Given the description of an element on the screen output the (x, y) to click on. 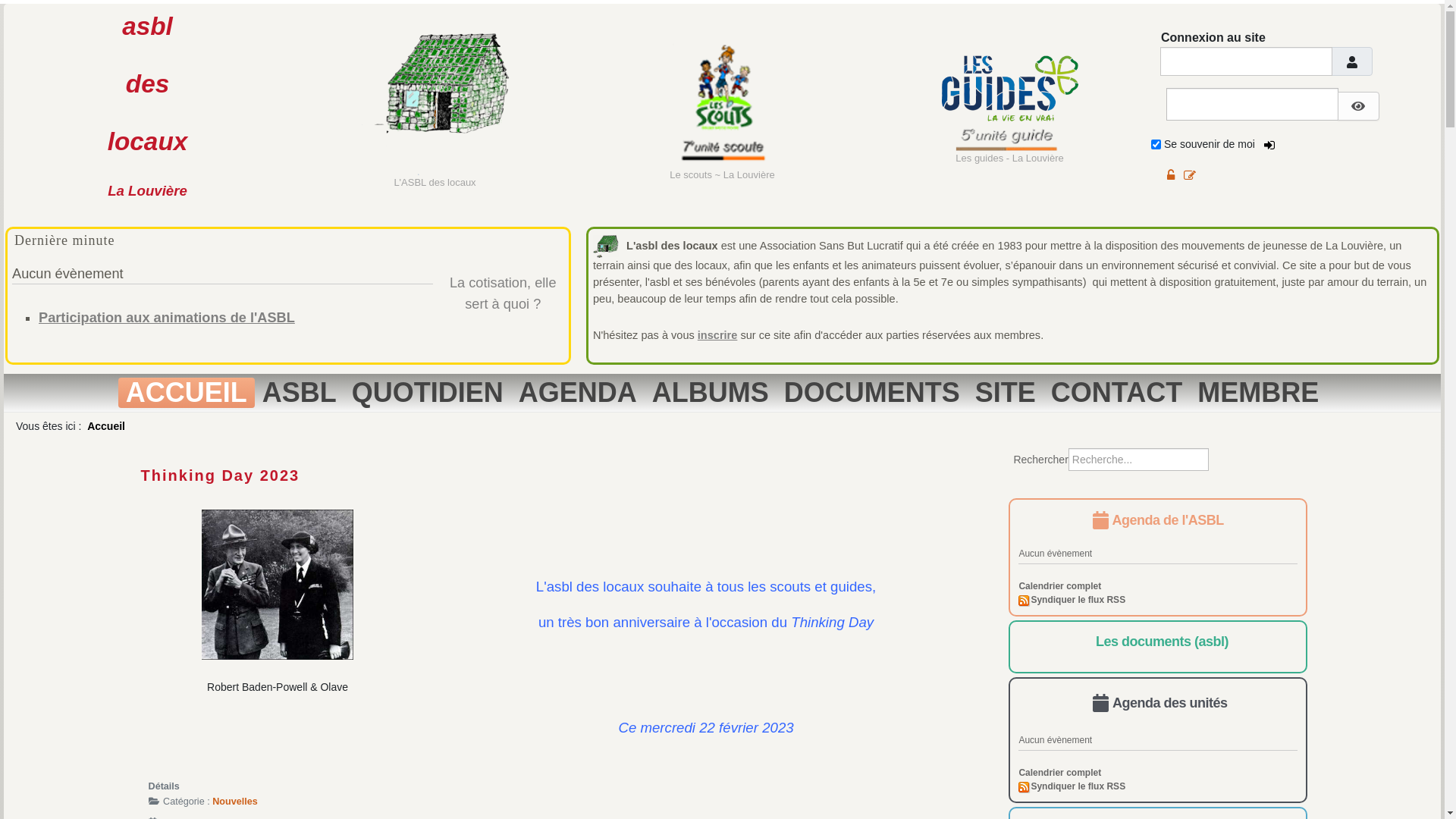
QUOTIDIEN Element type: text (427, 392)
S'identifier Element type: hover (1270, 144)
Afficher le mot de passe Element type: text (1358, 105)
S'enregistrer Element type: hover (1189, 175)
ASBL Element type: text (299, 392)
Calendrier complet Element type: text (1059, 585)
Calendrier complet Element type: text (1059, 772)
inscrire Element type: text (717, 335)
Nom d'utilisateur Element type: hover (1351, 61)
Participation aux animations de l'ASBL Element type: text (166, 317)
MEMBRE Element type: text (1257, 392)
Syndiquer le flux RSS Element type: text (1071, 786)
Mot de passe perdu Element type: hover (1170, 175)
Syndiquer le flux RSS Element type: text (1071, 599)
SITE Element type: text (1005, 392)
Nouvelles Element type: text (234, 801)
des Element type: text (147, 83)
DOCUMENTS Element type: text (871, 392)
ACCUEIL Element type: text (186, 392)
CONTACT Element type: text (1116, 392)
AGENDA Element type: text (577, 392)
locaux Element type: text (147, 141)
asbl Element type: text (147, 26)
ALBUMS Element type: text (710, 392)
